Given the description of an element on the screen output the (x, y) to click on. 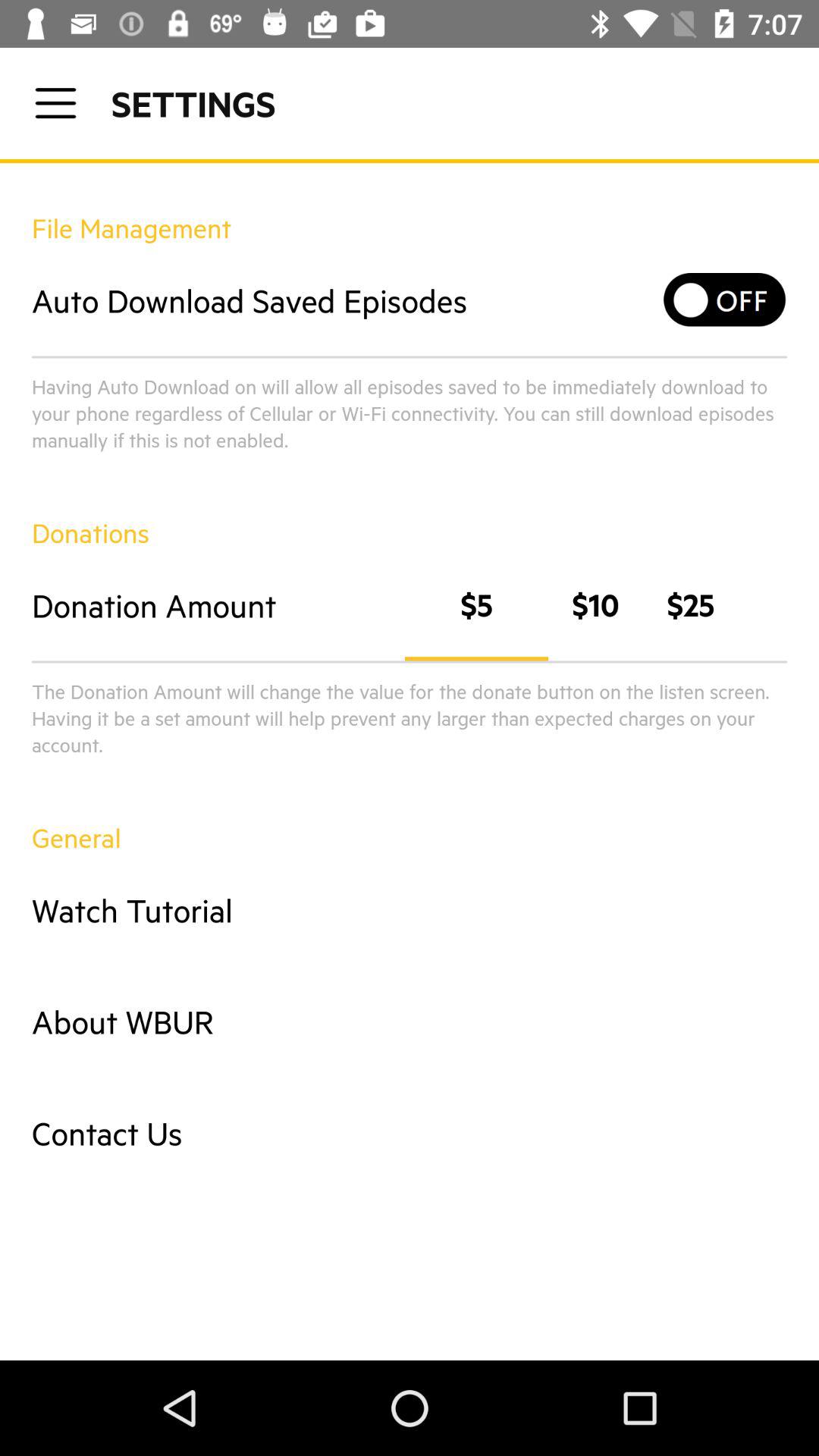
click on the switch button (725, 299)
click the button below the button watch tutorial on the web page (409, 1021)
select the option on right to the text donation amount on the web page (571, 605)
